Given the description of an element on the screen output the (x, y) to click on. 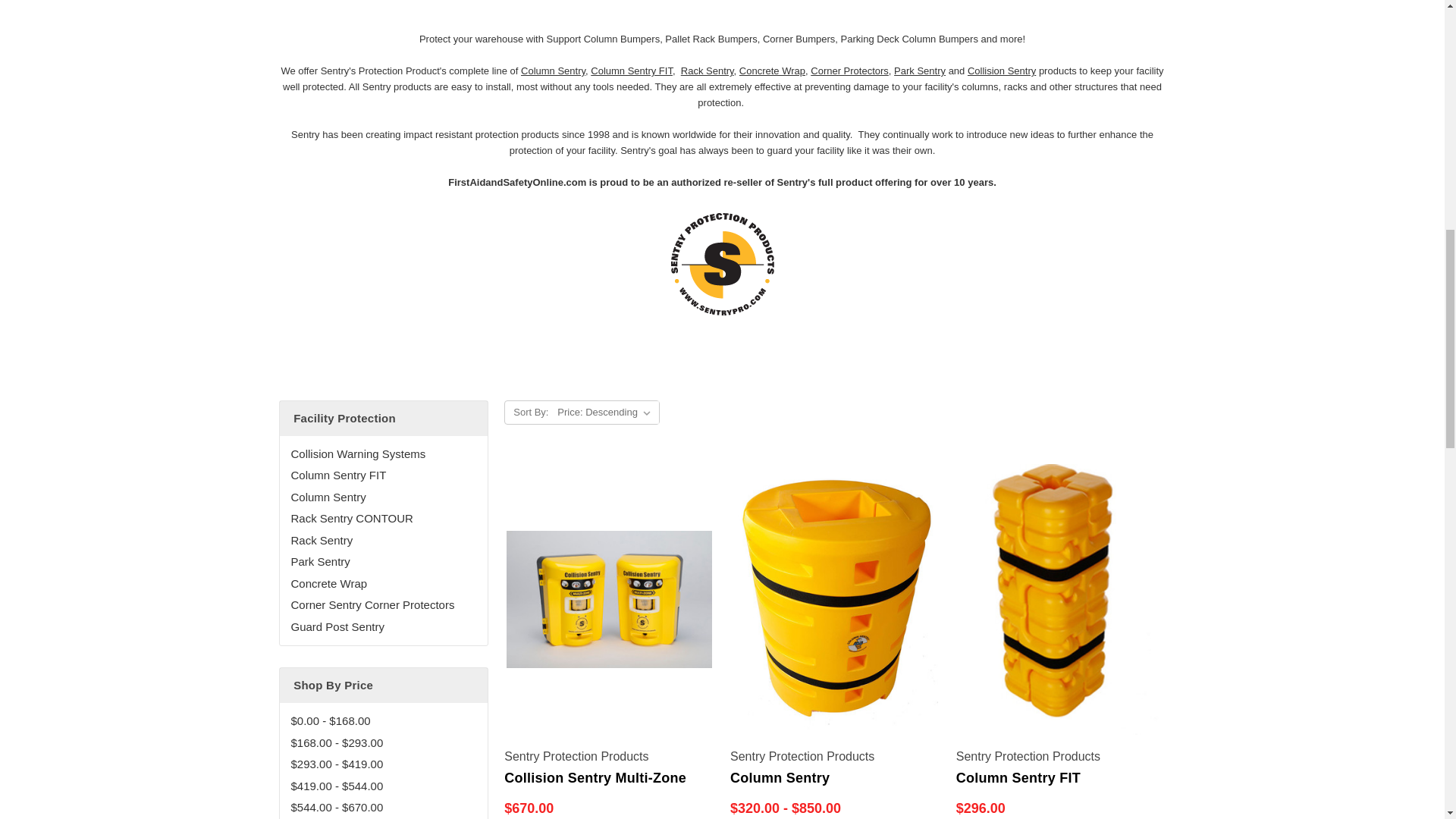
Park Sentry (384, 562)
Column Sentry (384, 497)
Column Sentry (553, 70)
Corner Sentry Corner Protectors (384, 605)
headerlogo.png (722, 266)
Concrete Wrap (384, 584)
Corner Protector (849, 70)
Guard Post Sentry (384, 627)
Column Sentry FIT (384, 475)
Collision Warning Systems (384, 454)
Collision Sentry (1001, 70)
Rack Sentry (384, 540)
Rack Sentry CONTOUR (384, 518)
Concrete Wrap (772, 70)
Park Sentry (918, 70)
